Given the description of an element on the screen output the (x, y) to click on. 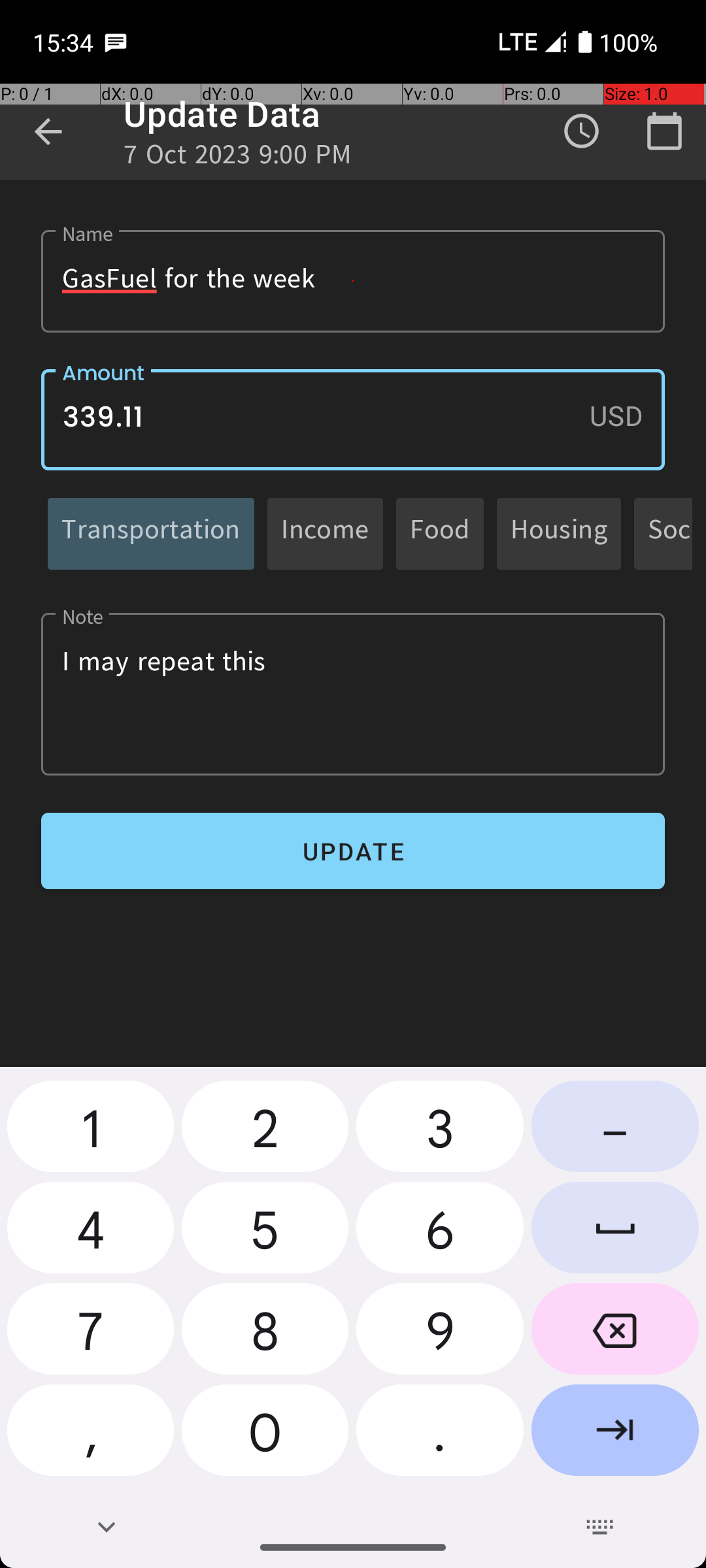
7 Oct 2023 9:00 PM Element type: android.widget.TextView (237, 157)
GasFuel for the week Element type: android.widget.EditText (352, 280)
339.11 Element type: android.widget.EditText (352, 419)
Transportation Element type: android.widget.TextView (150, 533)
